Given the description of an element on the screen output the (x, y) to click on. 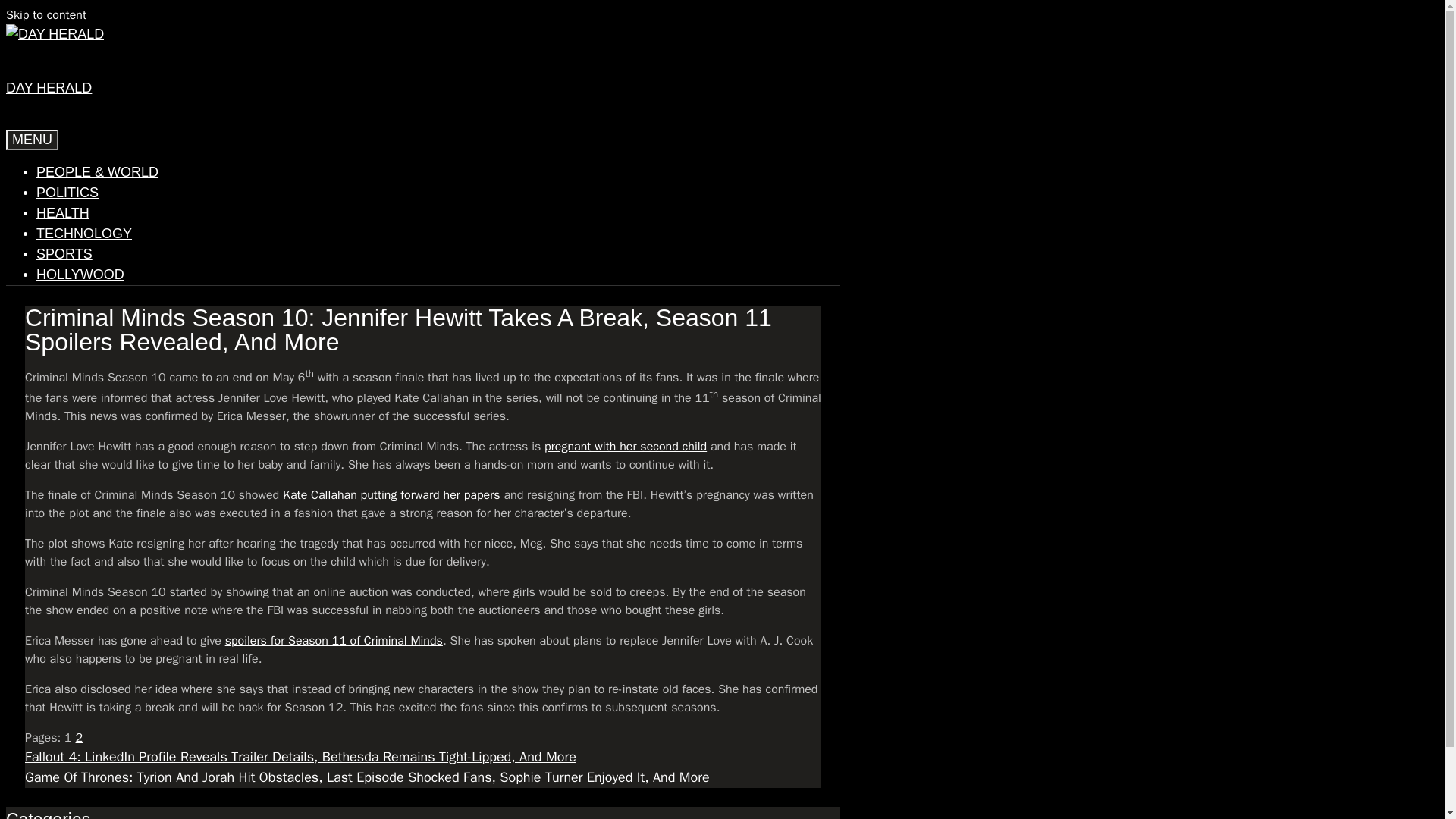
Kate Callahan putting forward her papers (391, 494)
spoilers for Season 11 of Criminal Minds (333, 640)
pregnant with her second child (625, 446)
POLITICS (67, 192)
2 (78, 737)
HEALTH (62, 212)
MENU (31, 139)
Day Herald (54, 33)
HOLLYWOOD (79, 273)
TECHNOLOGY (84, 233)
DAY HERALD (48, 87)
SPORTS (64, 253)
Day Herald (54, 34)
